Given the description of an element on the screen output the (x, y) to click on. 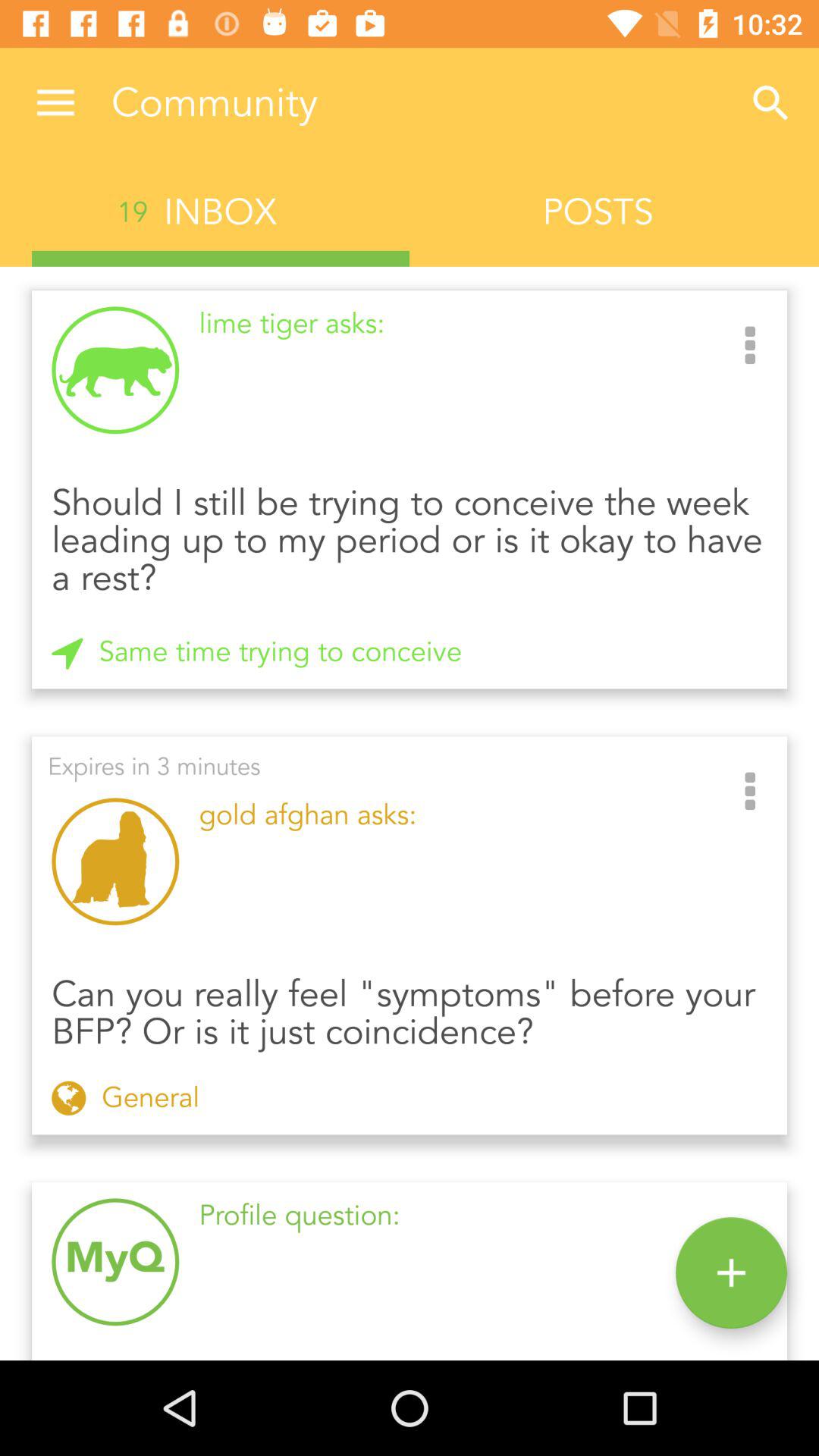
add a question (731, 1272)
